Given the description of an element on the screen output the (x, y) to click on. 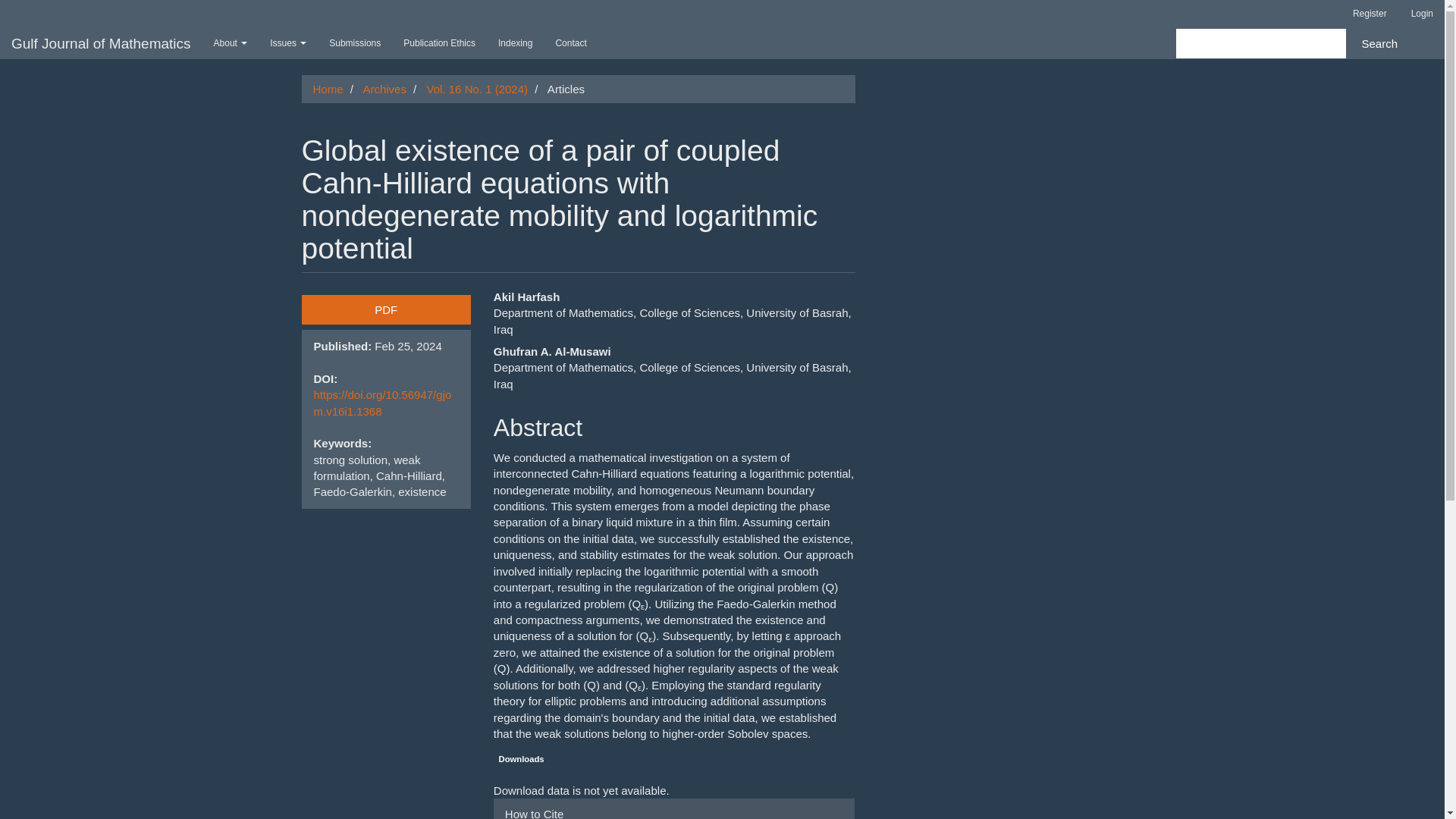
Home (327, 88)
Indexing (514, 42)
Register (1368, 13)
About (230, 42)
Publication Ethics (438, 42)
PDF (385, 309)
Contact (569, 42)
Gulf Journal of Mathematics (101, 42)
Search (1379, 43)
Submissions (354, 42)
